Given the description of an element on the screen output the (x, y) to click on. 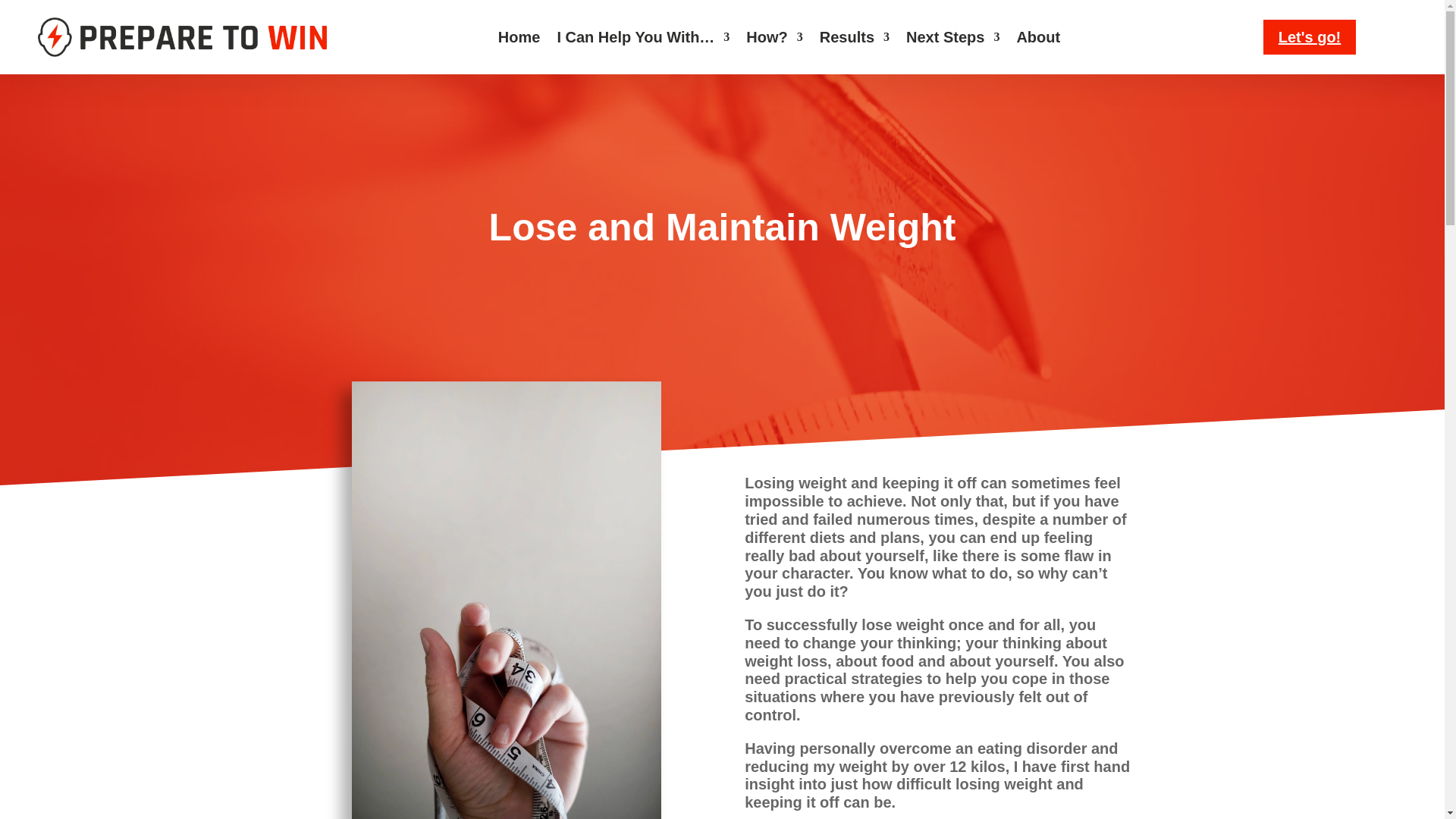
How? (773, 39)
Home (518, 39)
About (1037, 39)
Results (854, 39)
Next Steps (951, 39)
